Given the description of an element on the screen output the (x, y) to click on. 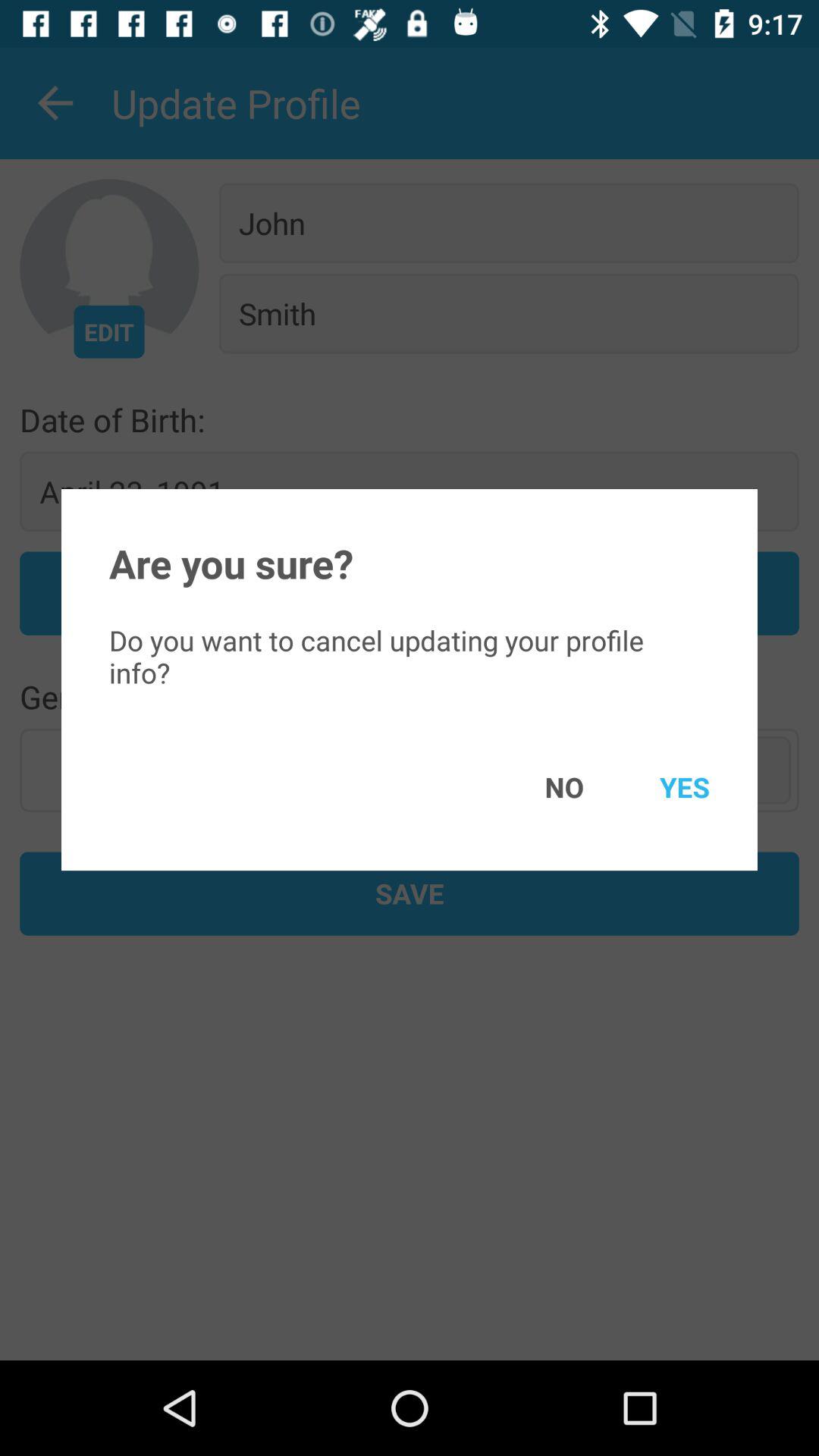
swipe until yes item (662, 786)
